Given the description of an element on the screen output the (x, y) to click on. 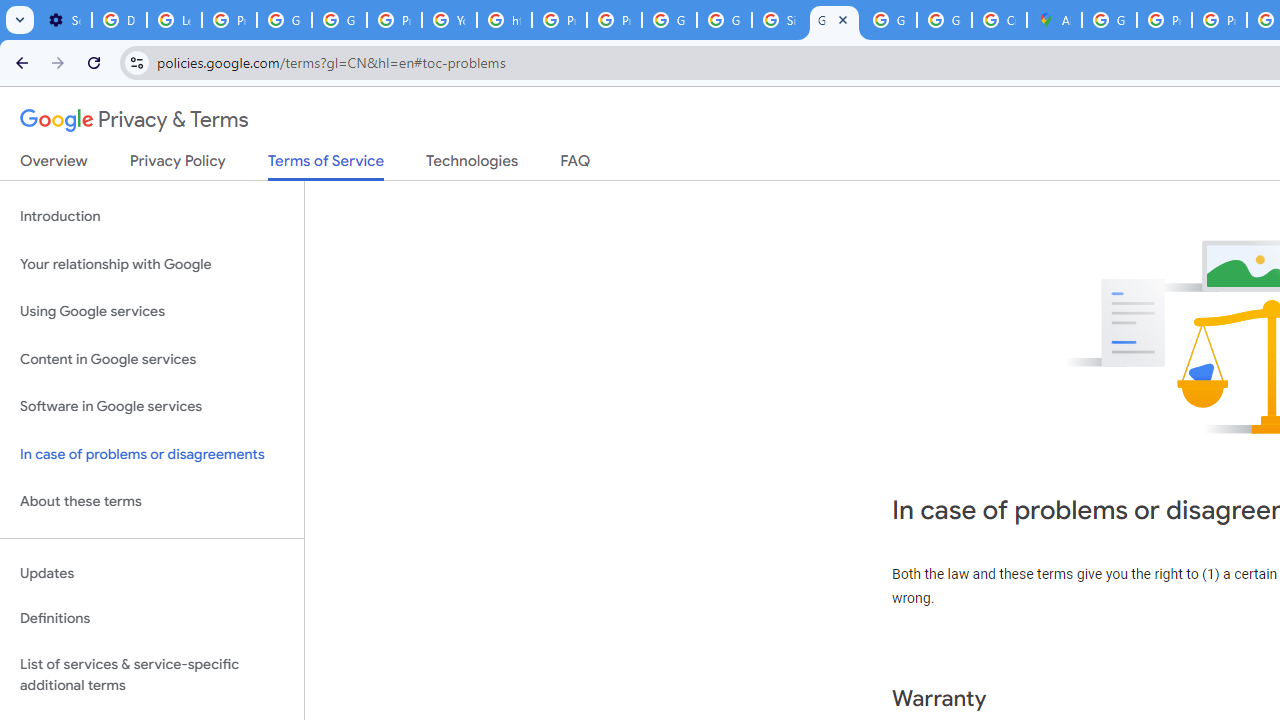
Search tabs (20, 20)
